Given the description of an element on the screen output the (x, y) to click on. 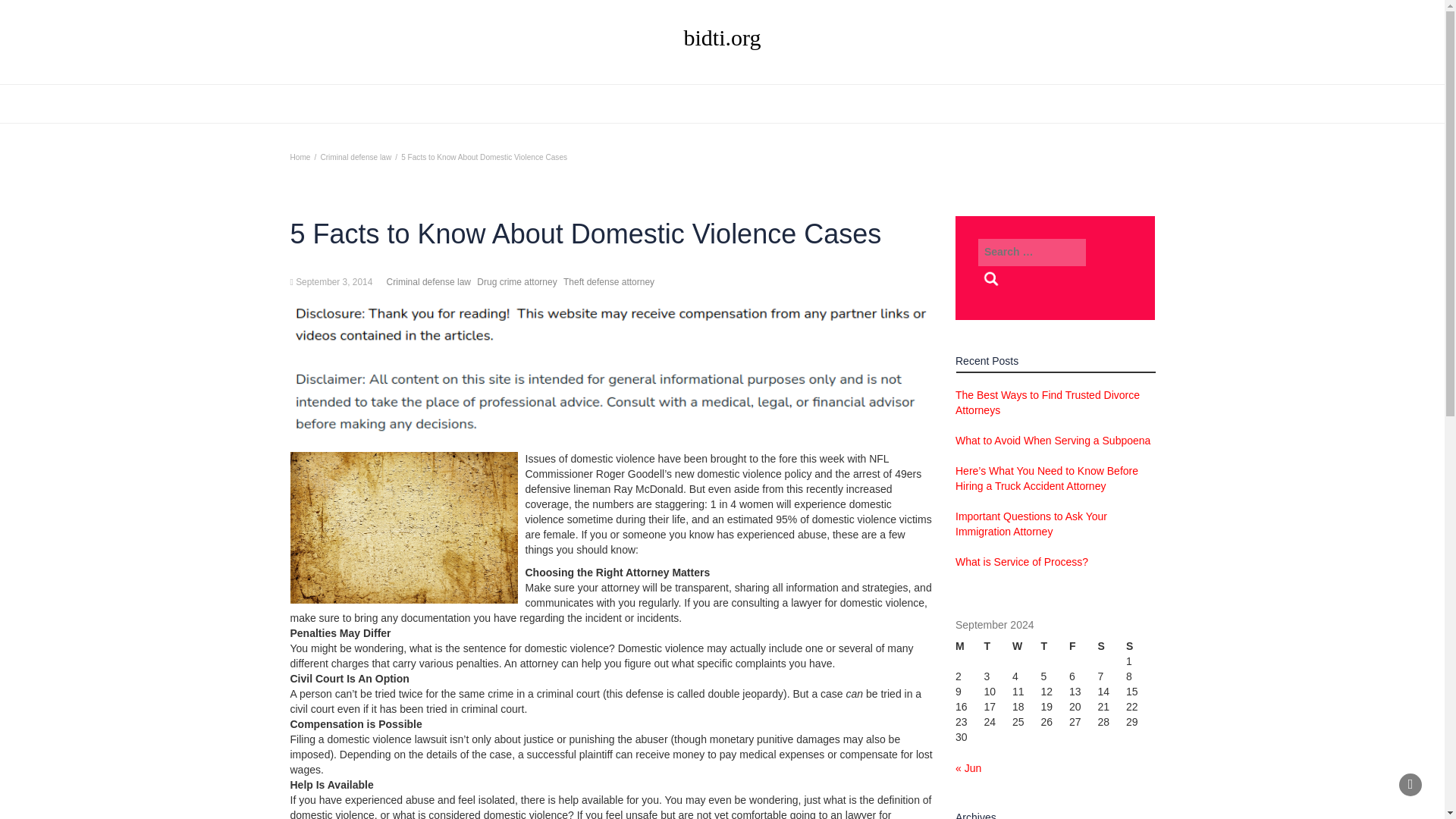
Search (991, 279)
Search (991, 279)
Theft defense attorney (608, 281)
Saturday (1111, 646)
September 3, 2014 (333, 281)
Search for: (1032, 252)
What to Avoid When Serving a Subpoena (1052, 440)
What is Service of Process? (1021, 562)
Sunday (1139, 646)
Search (991, 279)
